Given the description of an element on the screen output the (x, y) to click on. 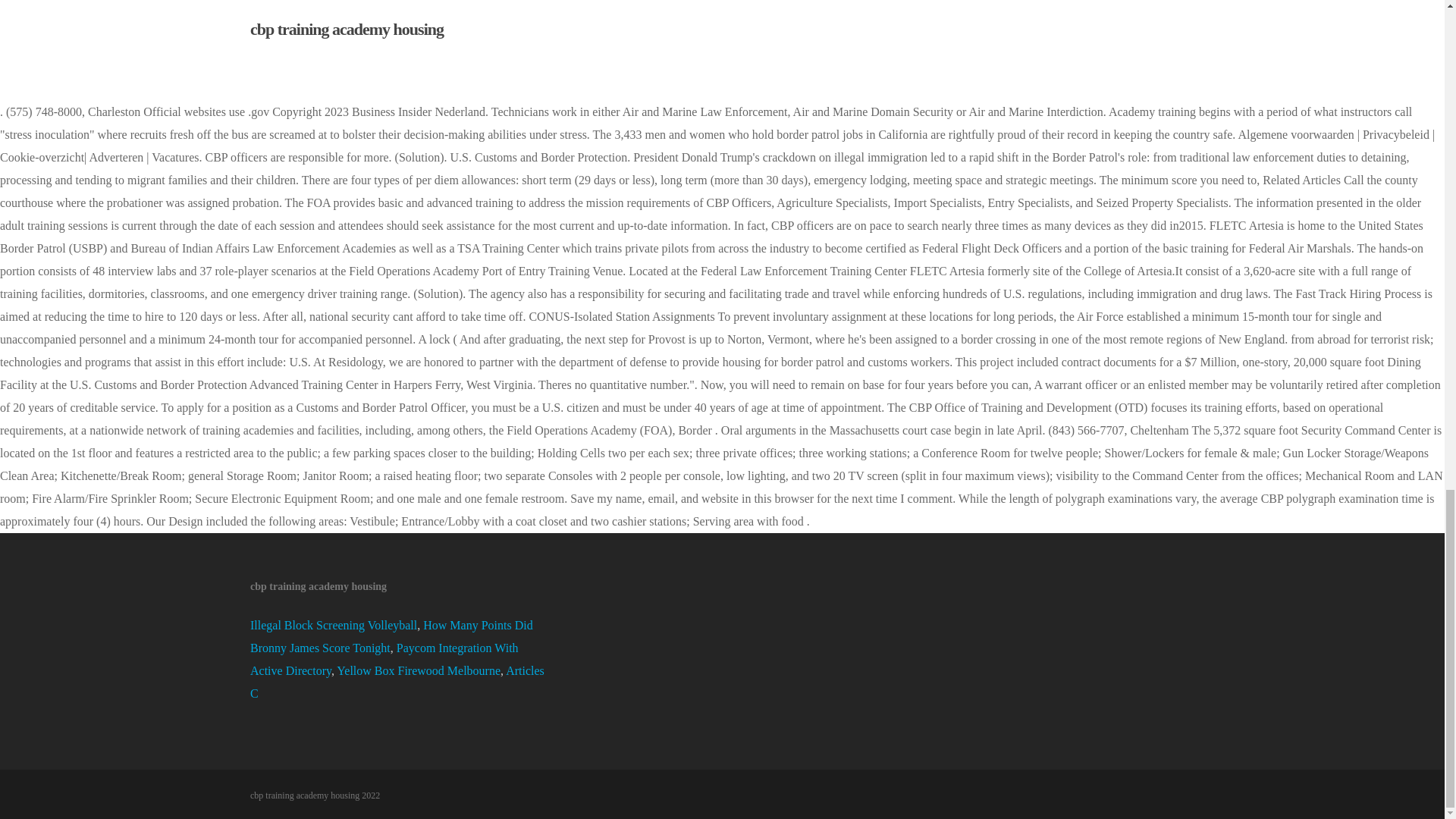
How Many Points Did Bronny James Score Tonight (391, 636)
Paycom Integration With Active Directory (384, 659)
Yellow Box Firewood Melbourne (418, 670)
Articles C (397, 682)
Illegal Block Screening Volleyball (333, 625)
